Given the description of an element on the screen output the (x, y) to click on. 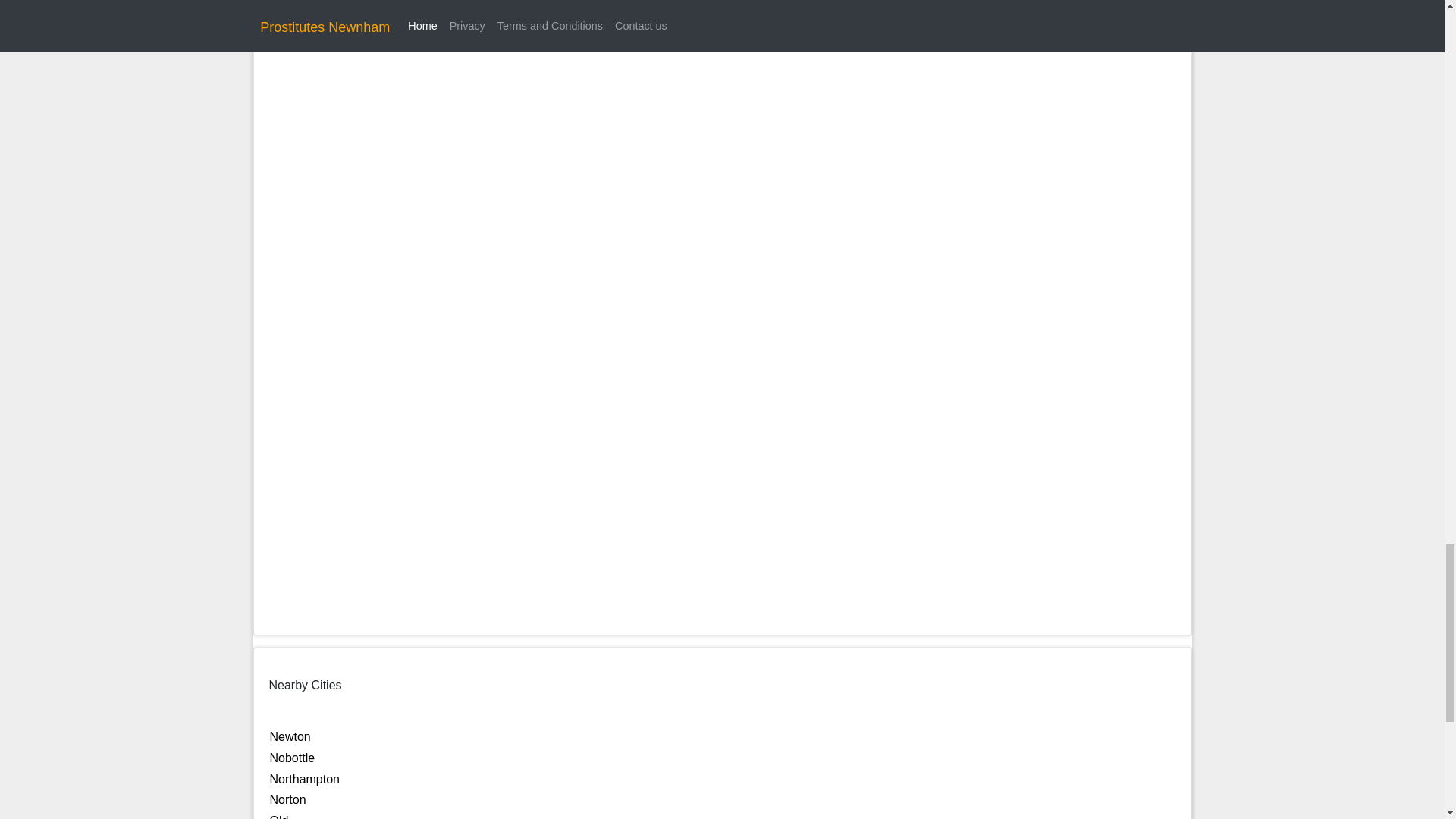
Old (278, 816)
Northampton (304, 779)
Nobottle (292, 757)
Norton (287, 799)
Newton (290, 736)
